Given the description of an element on the screen output the (x, y) to click on. 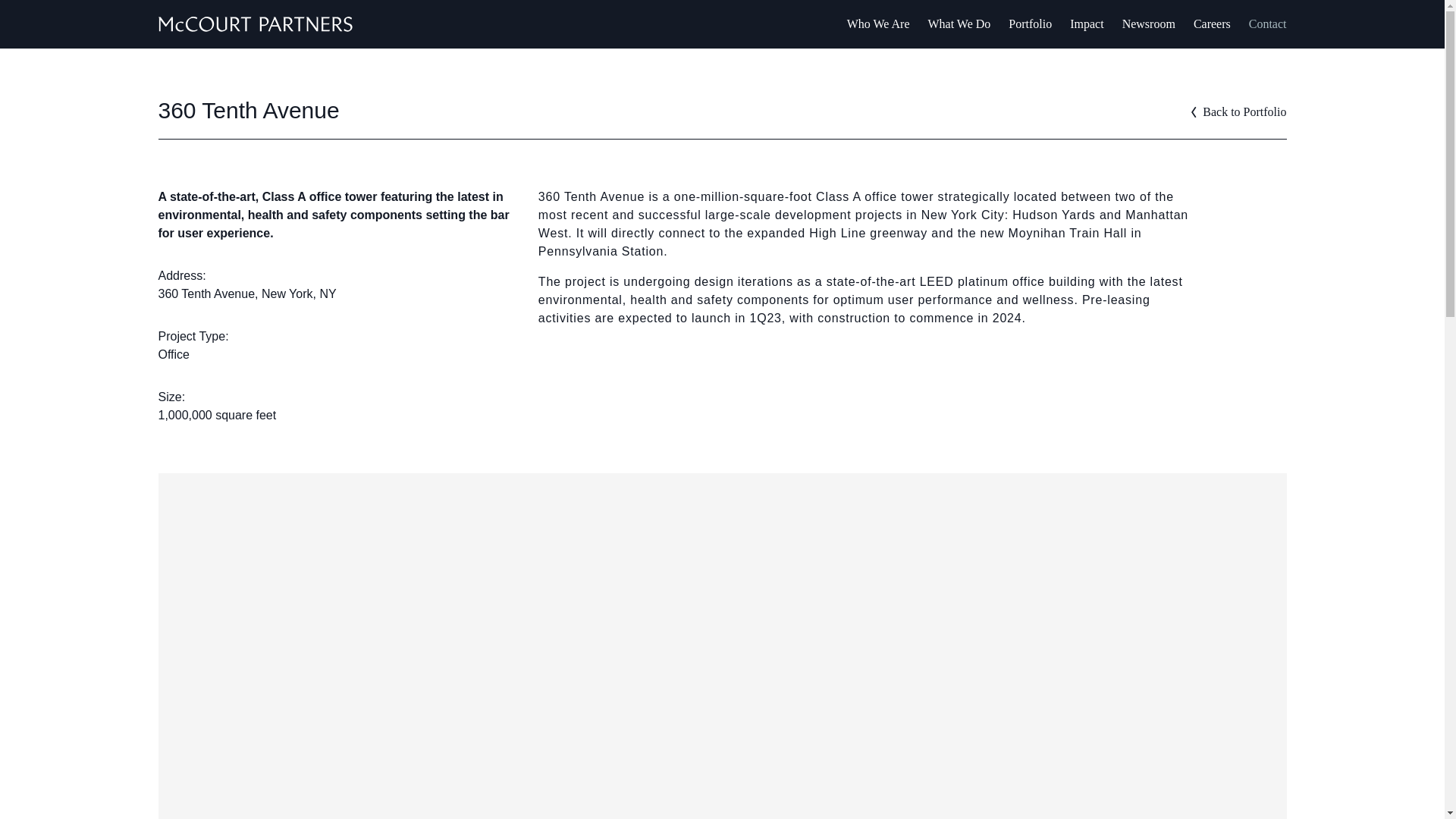
Contact (1268, 24)
Careers (1211, 24)
Newsroom (1148, 24)
Portfolio (1030, 24)
Back to Portfolio (1238, 111)
Impact (1086, 24)
What We Do (959, 24)
Who We Are (878, 24)
